Given the description of an element on the screen output the (x, y) to click on. 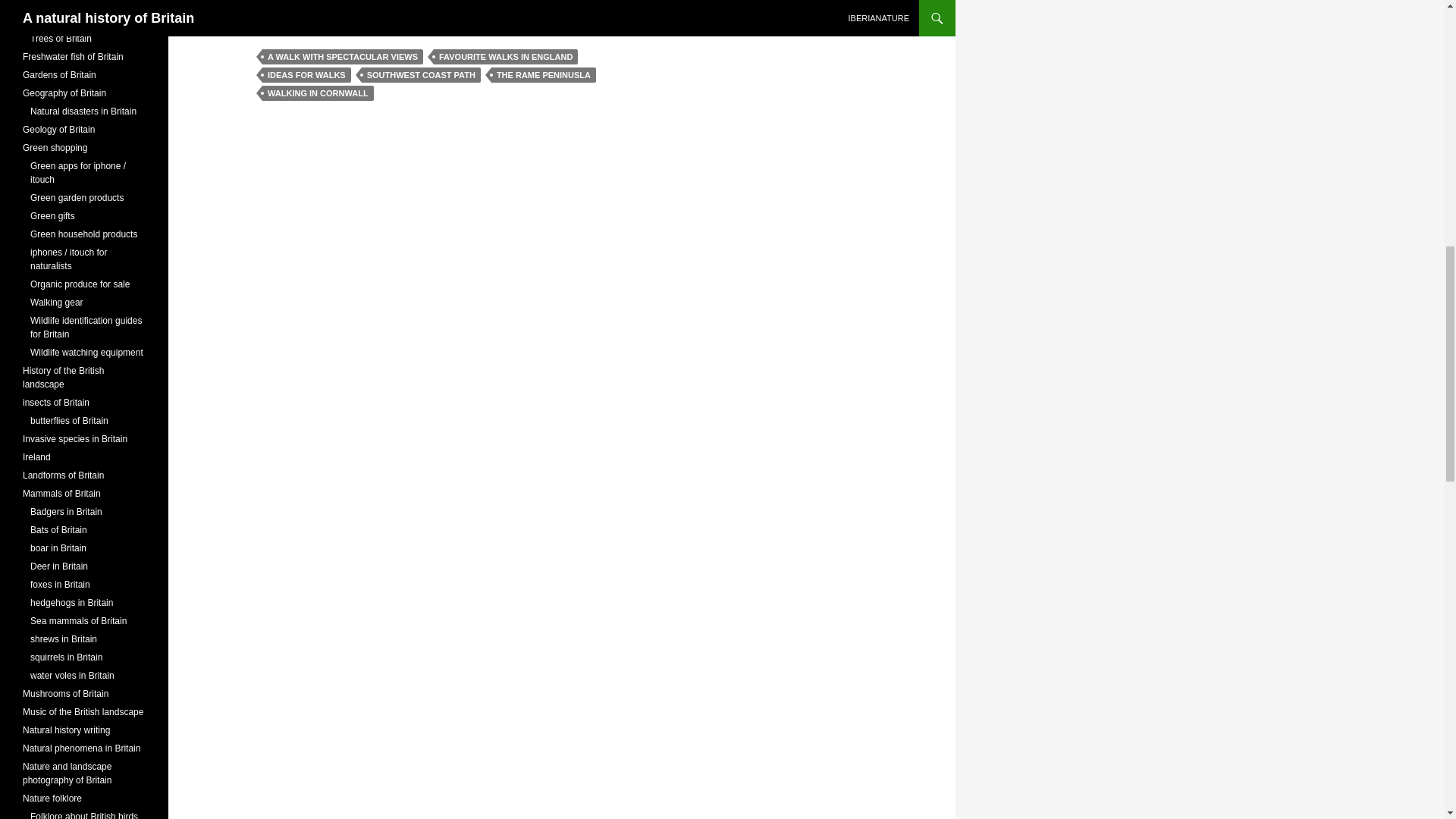
THE RAME PENINUSLA (543, 74)
WALKING IN CORNWALL (318, 92)
SOUTHWEST COAST PATH (420, 74)
FAVOURITE WALKS IN ENGLAND (505, 56)
IDEAS FOR WALKS (306, 74)
A WALK WITH SPECTACULAR VIEWS (342, 56)
